Given the description of an element on the screen output the (x, y) to click on. 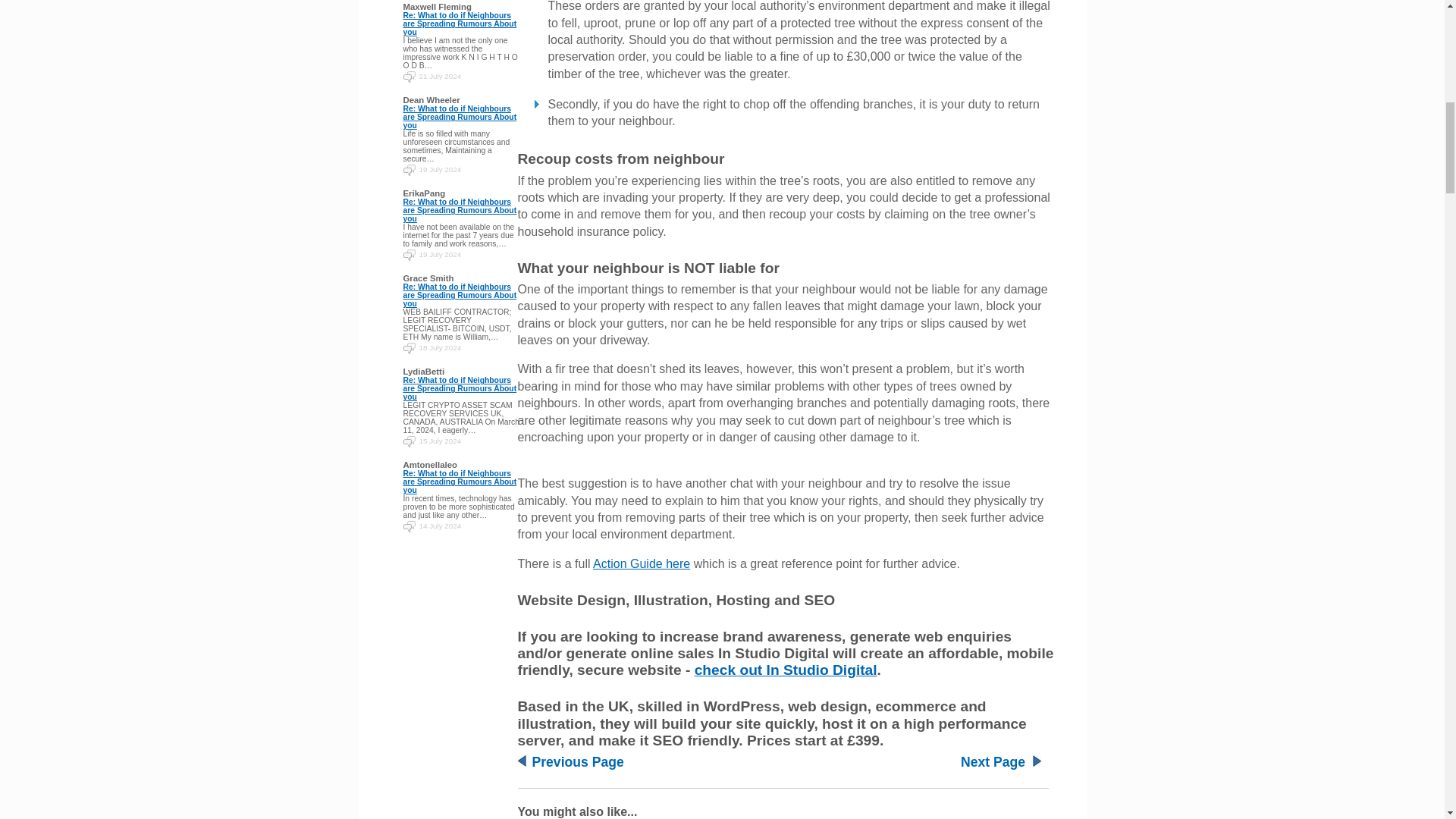
Previous Page (578, 761)
Next Page (992, 761)
check out In Studio Digital (785, 669)
Action Guide here (641, 563)
